Given the description of an element on the screen output the (x, y) to click on. 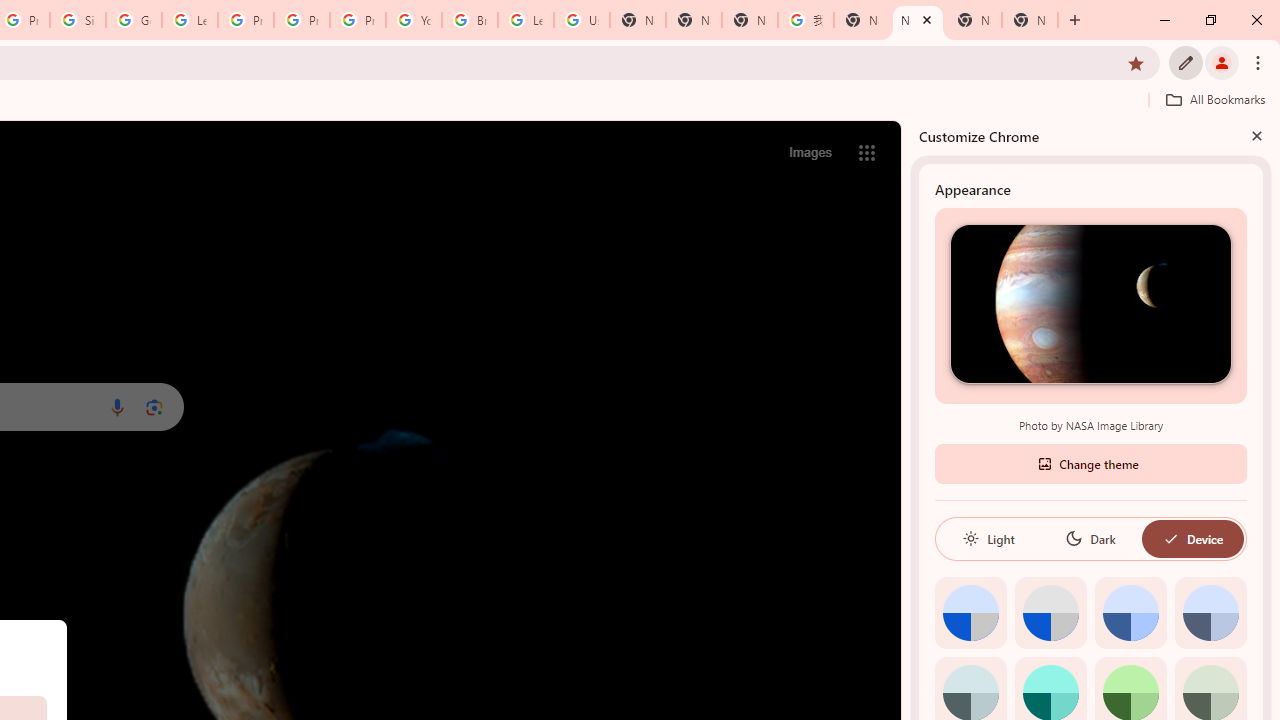
Default color (970, 612)
Cool grey (1210, 612)
Change theme (1090, 462)
Privacy Help Center - Policies Help (245, 20)
Photo by NASA Image Library (1090, 303)
YouTube (413, 20)
New Tab (693, 20)
AutomationID: baseSvg (1170, 538)
Light (988, 538)
